Given the description of an element on the screen output the (x, y) to click on. 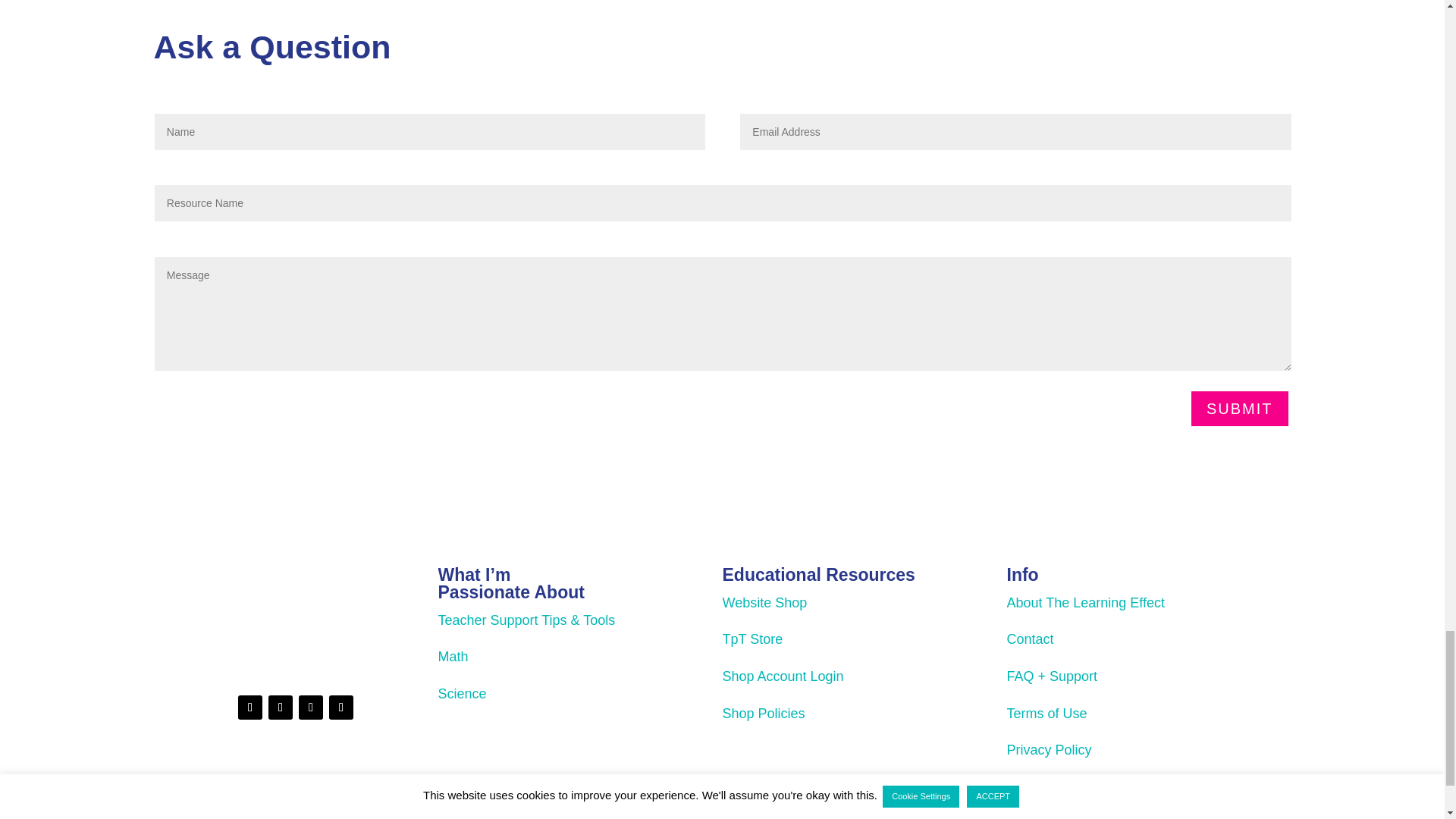
Follow on Facebook (279, 707)
Follow on Pinterest (310, 707)
Follow on RSS (341, 707)
Follow on Instagram (250, 707)
thelearningeffectlogo (295, 614)
